Given the description of an element on the screen output the (x, y) to click on. 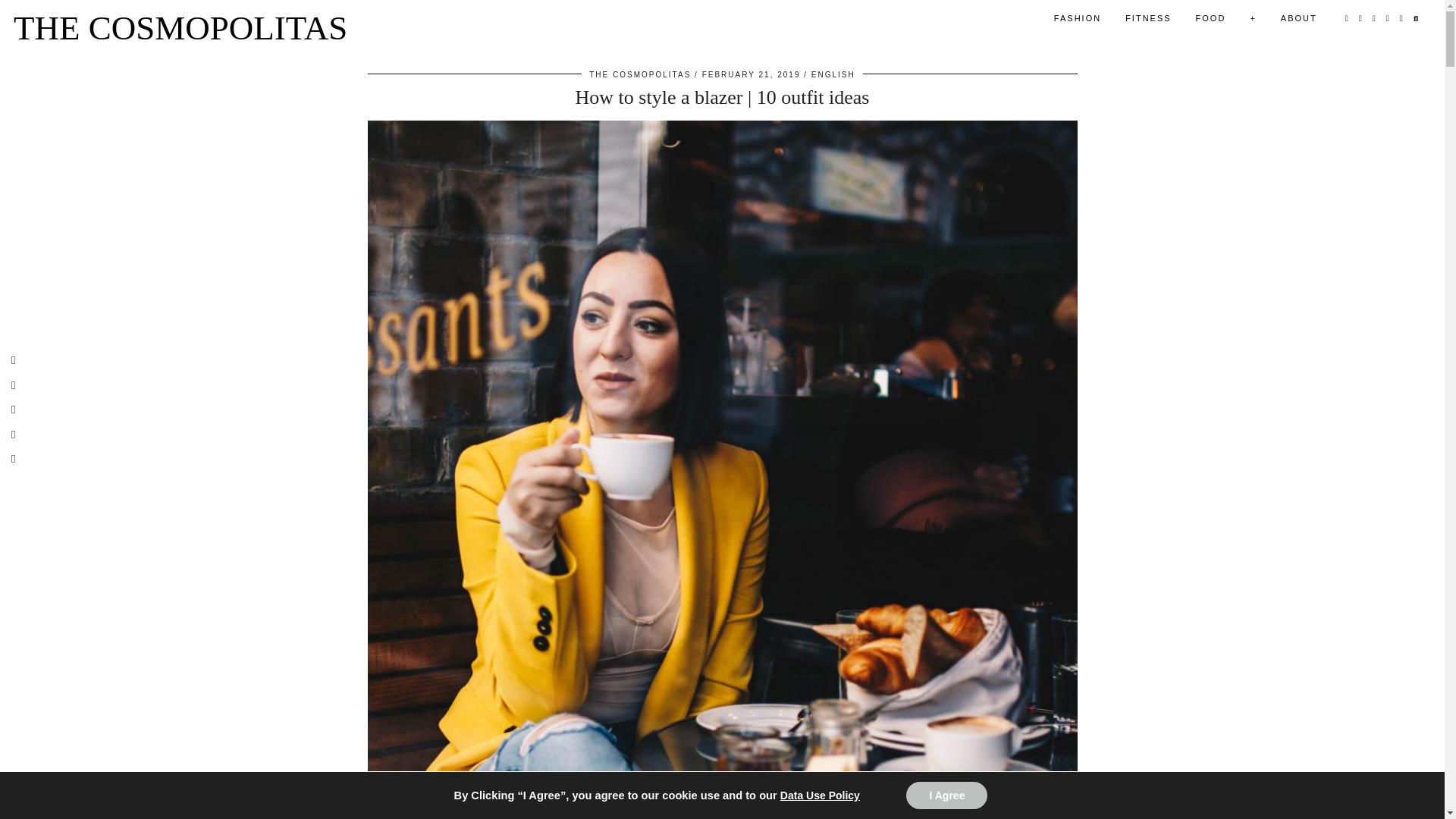
Facebook (1375, 18)
FITNESS (1147, 18)
Pinterest (1360, 18)
Bloglovin (1388, 18)
Email (1402, 18)
FASHION (1077, 18)
Instagram (1347, 18)
